Given the description of an element on the screen output the (x, y) to click on. 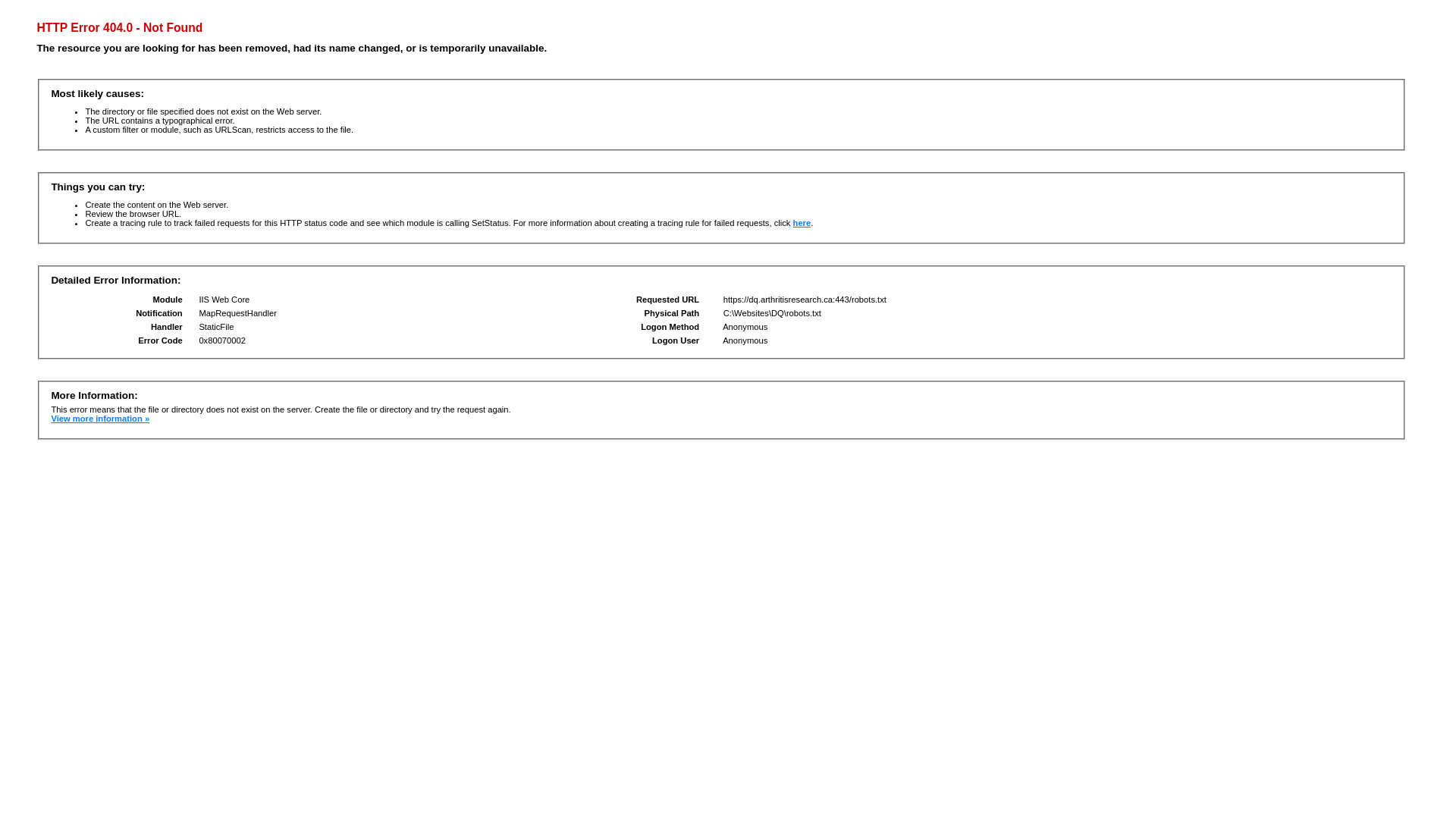
here Element type: text (802, 222)
